Given the description of an element on the screen output the (x, y) to click on. 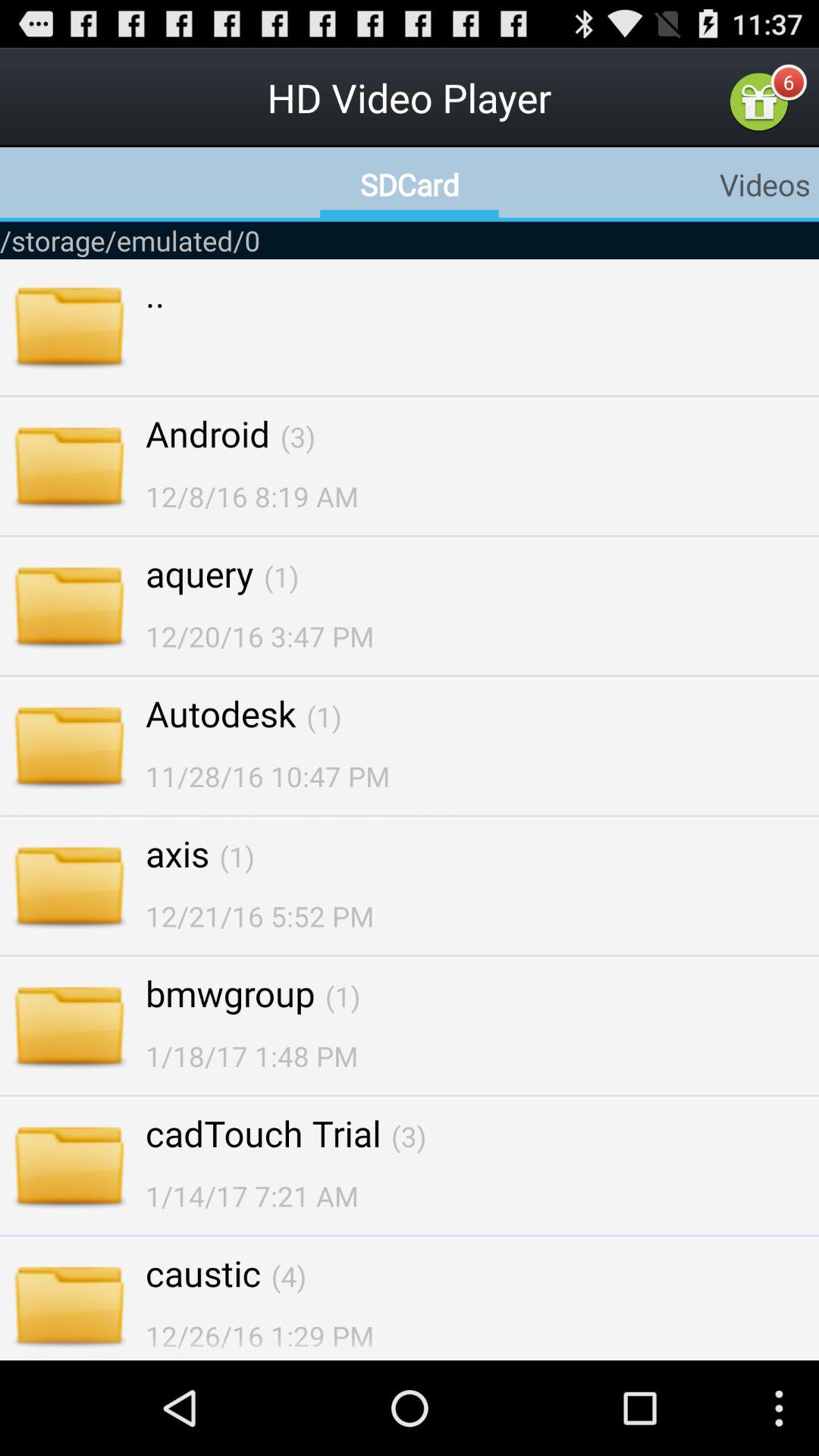
click on the image beside aquery (69, 609)
click on the file icon beside android (69, 469)
